Given the description of an element on the screen output the (x, y) to click on. 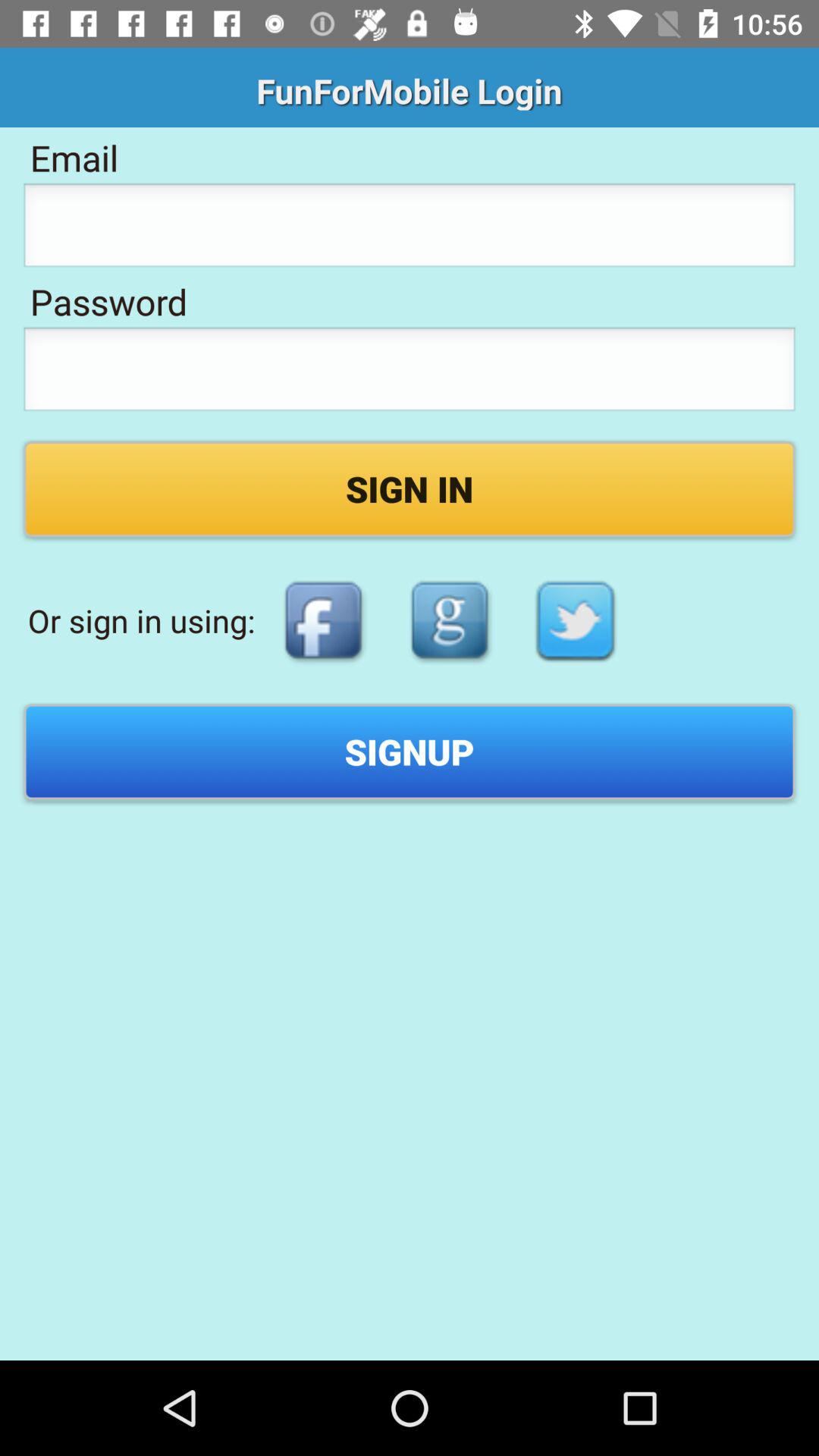
select icon below sign in item (576, 620)
